Given the description of an element on the screen output the (x, y) to click on. 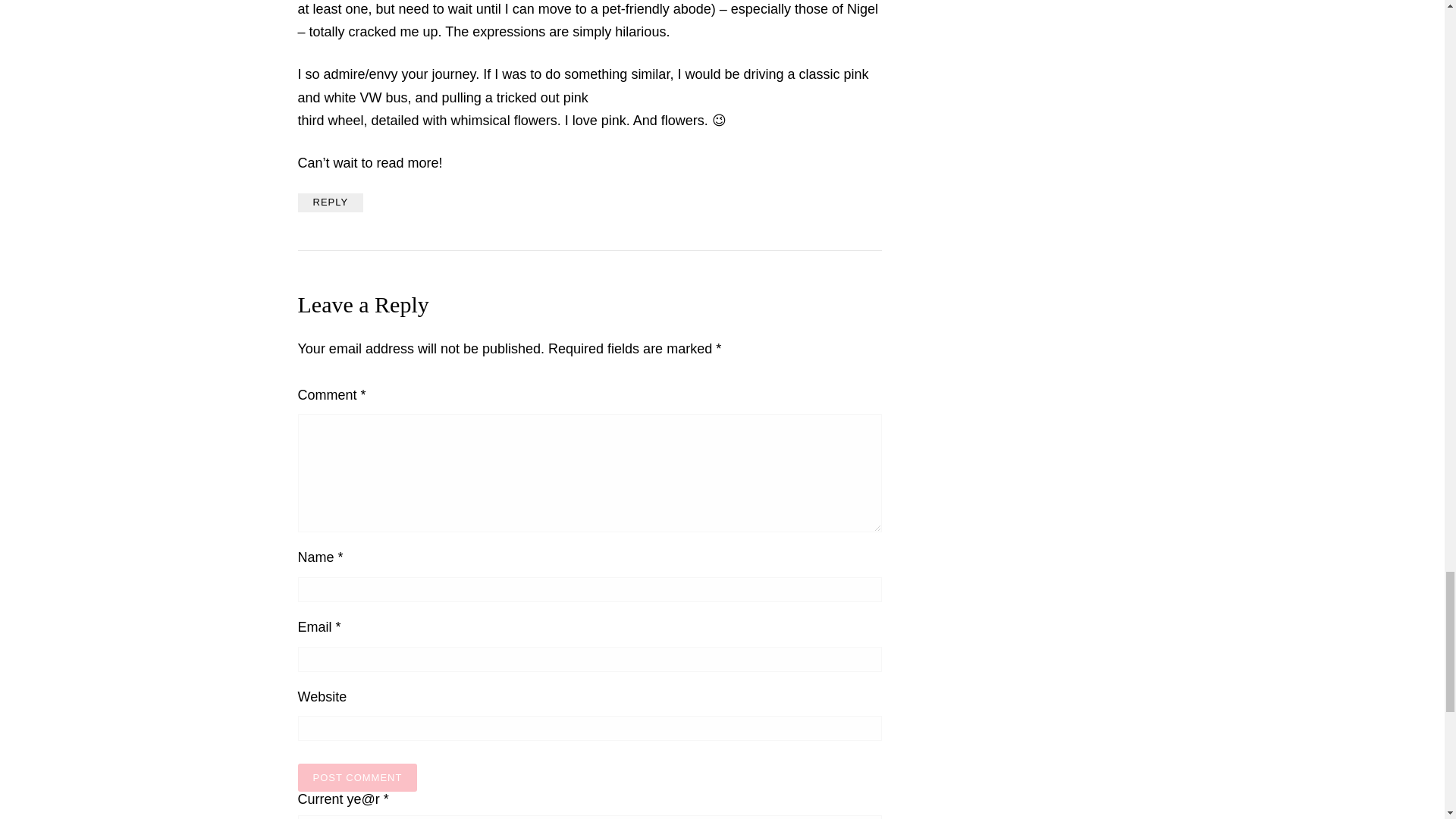
REPLY (329, 202)
Post Comment (356, 777)
Post Comment (356, 777)
